Given the description of an element on the screen output the (x, y) to click on. 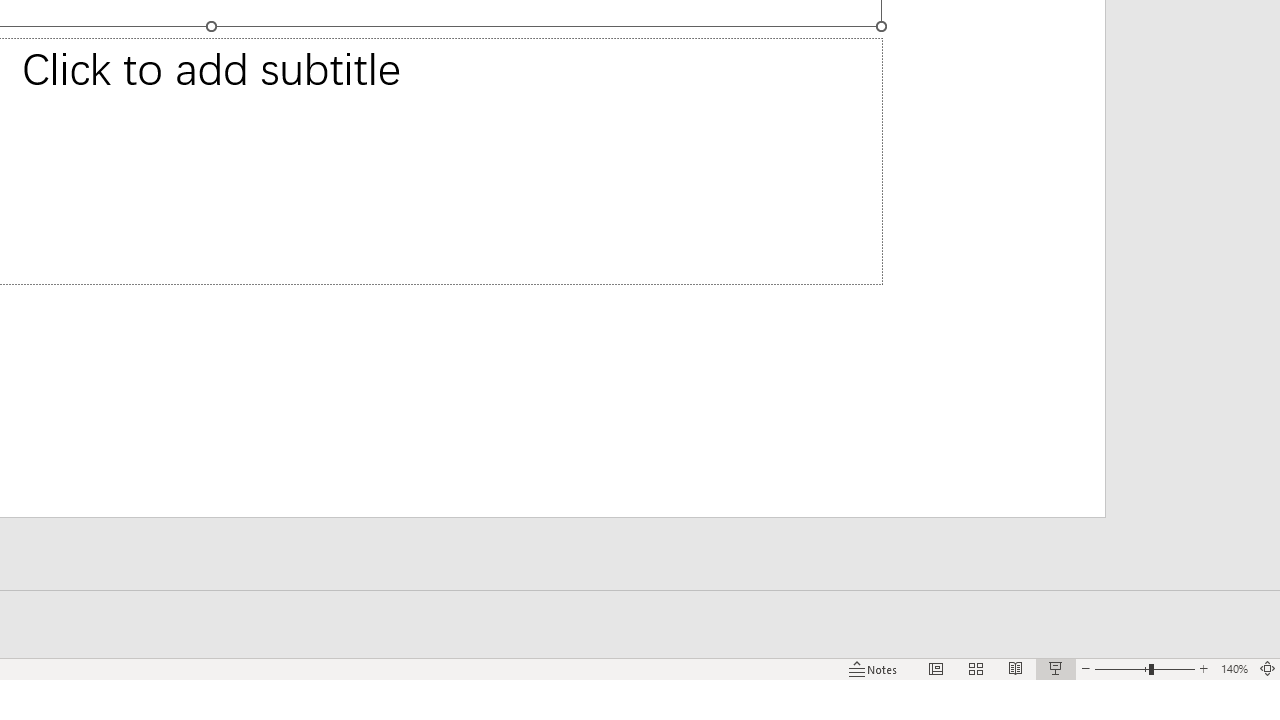
Zoom 140% (1234, 668)
